Given the description of an element on the screen output the (x, y) to click on. 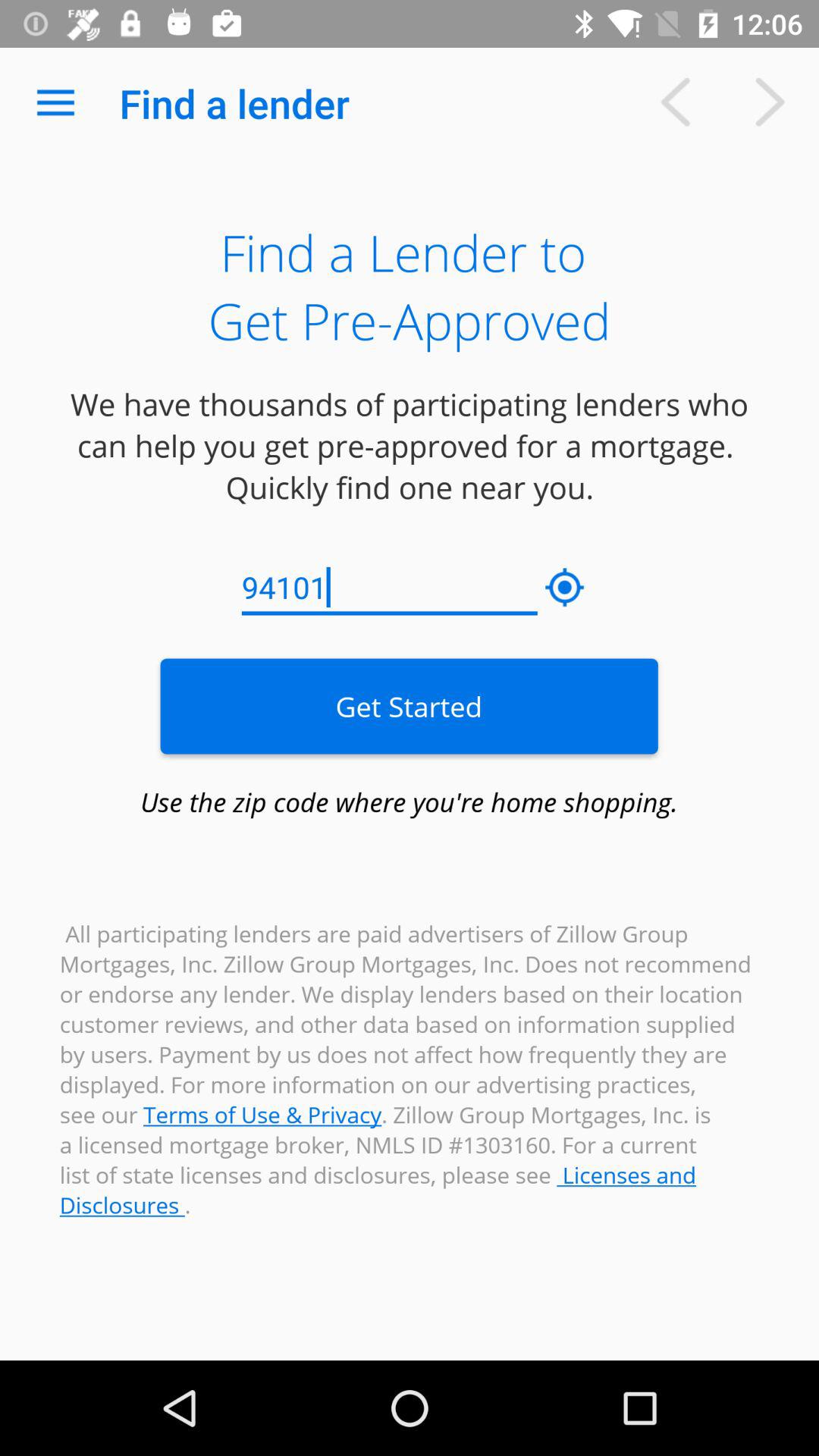
flip to the get started (409, 706)
